Given the description of an element on the screen output the (x, y) to click on. 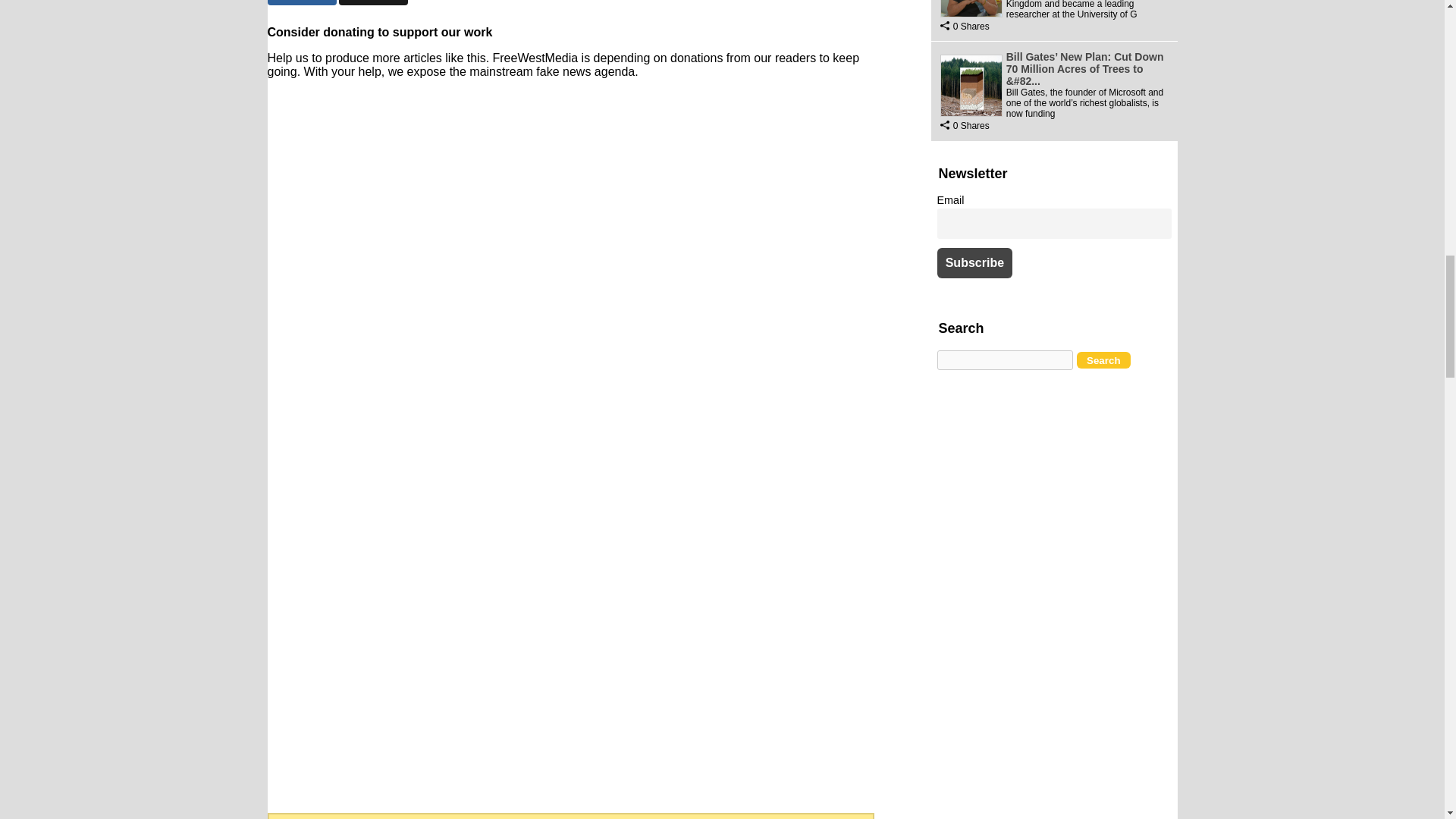
Share (301, 2)
Tweet (373, 2)
